Given the description of an element on the screen output the (x, y) to click on. 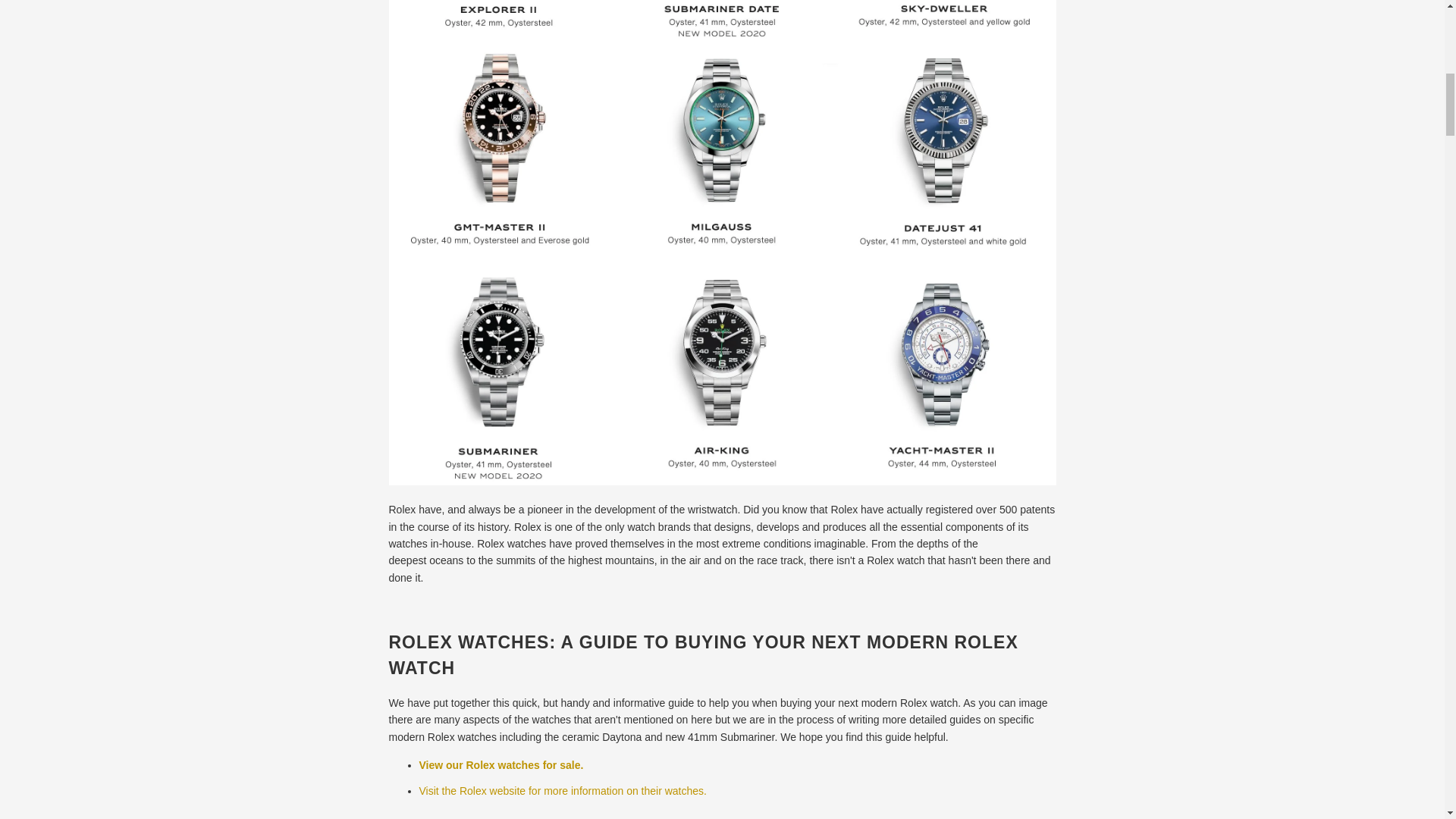
Rolex Watches (562, 790)
Rolex Watches For Sale (501, 765)
